Given the description of an element on the screen output the (x, y) to click on. 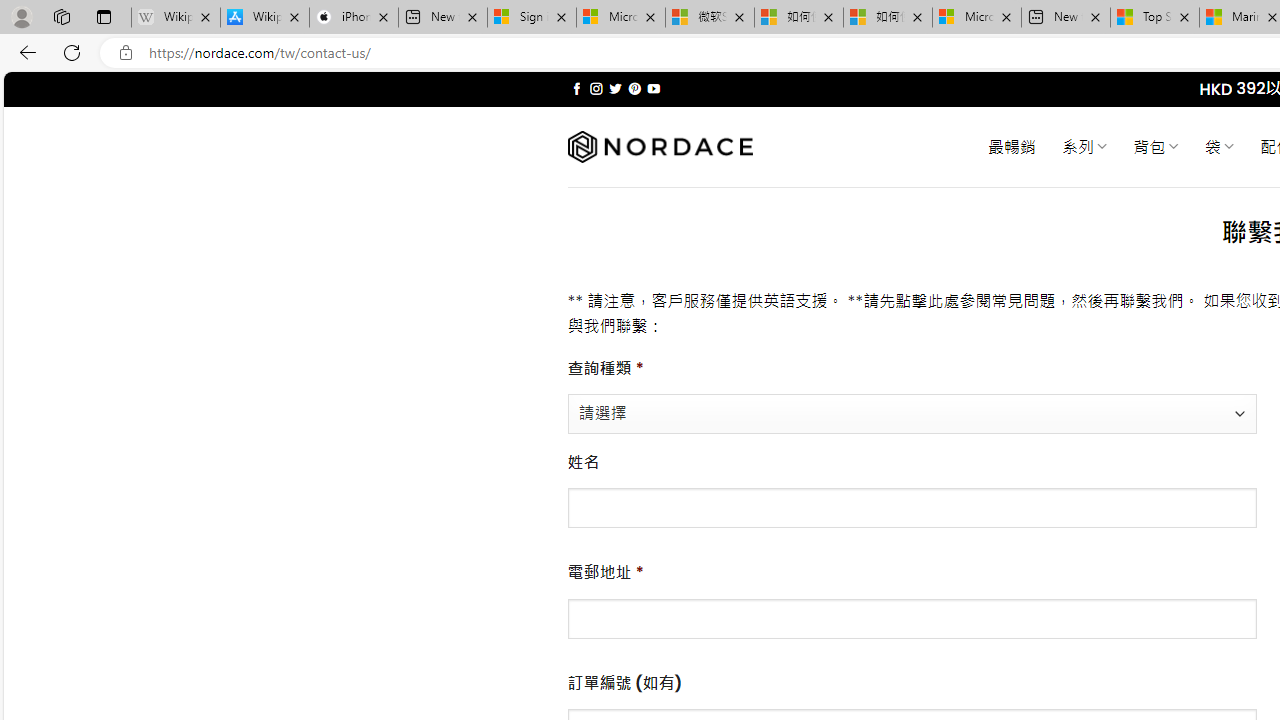
Follow on Facebook (576, 88)
Follow on Instagram (596, 88)
